Given the description of an element on the screen output the (x, y) to click on. 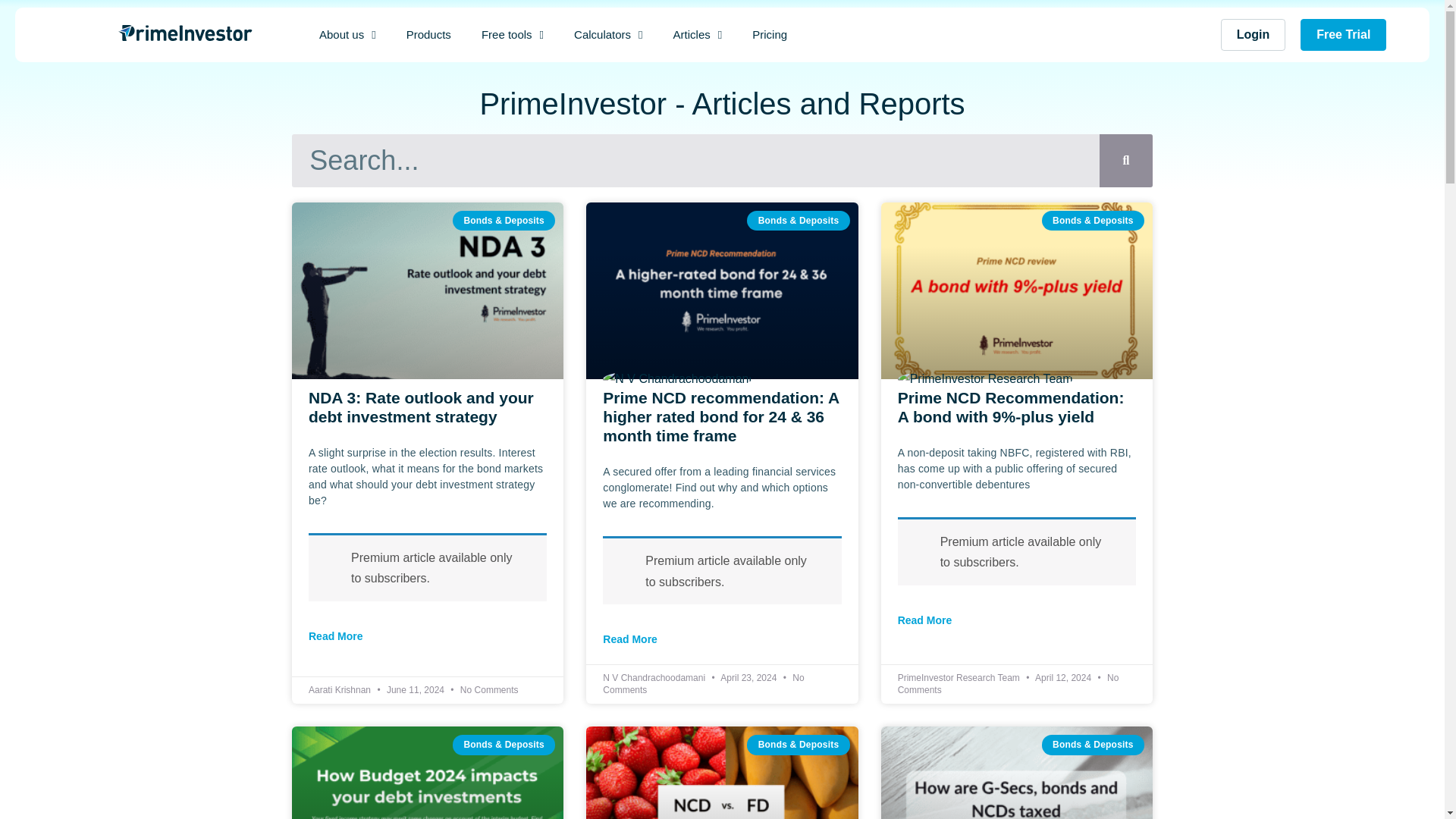
Articles (697, 34)
Calculators (608, 34)
Free tools (512, 34)
Products (428, 34)
About us (346, 34)
